Given the description of an element on the screen output the (x, y) to click on. 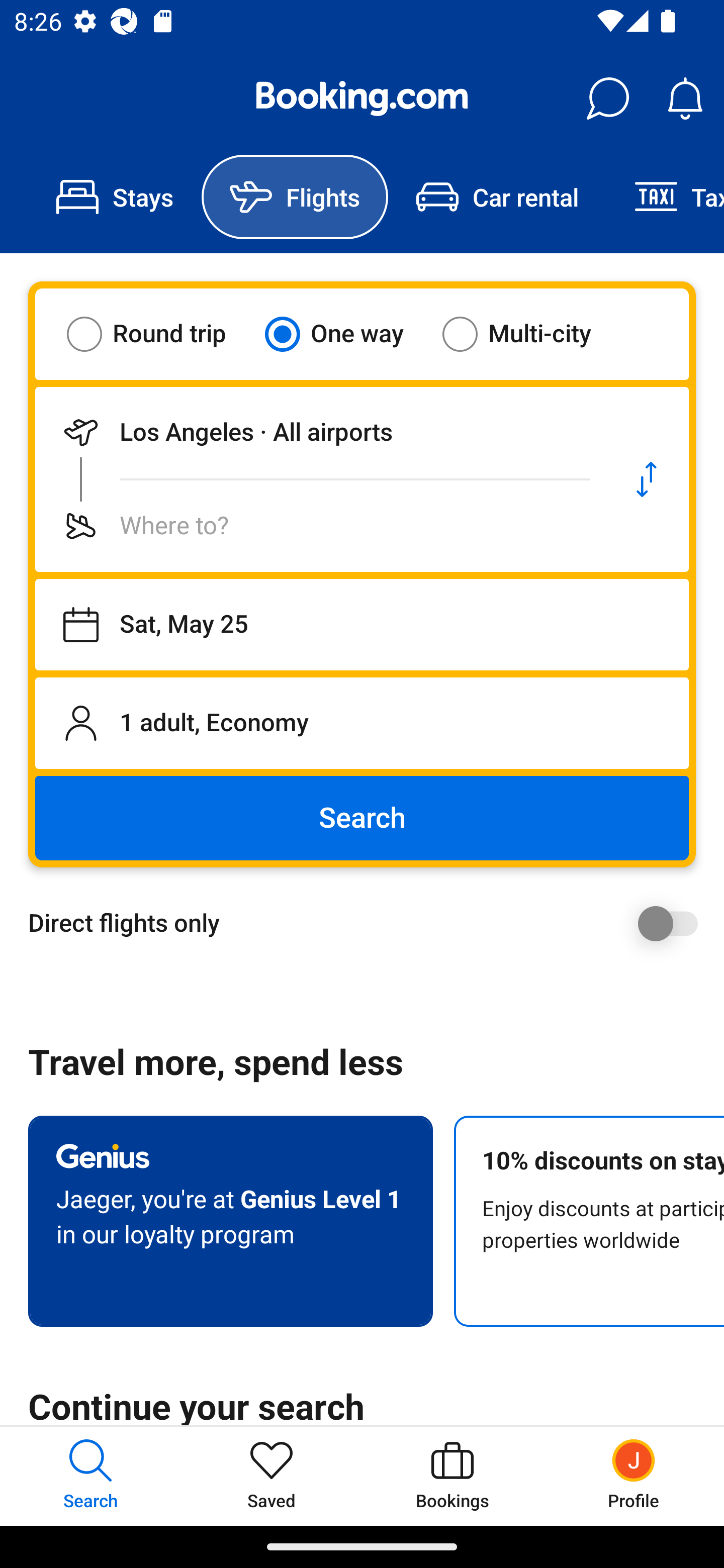
Messages (607, 98)
Notifications (685, 98)
Stays (114, 197)
Flights (294, 197)
Car rental (497, 197)
Taxi (665, 197)
Round trip (158, 333)
Multi-city (528, 333)
Departing from Los Angeles · All airports (319, 432)
Swap departure location and destination (646, 479)
Flying to  (319, 525)
Departing on Sat, May 25 (361, 624)
1 adult, Economy (361, 722)
Search (361, 818)
Direct flights only (369, 923)
Saved (271, 1475)
Bookings (452, 1475)
Profile (633, 1475)
